Given the description of an element on the screen output the (x, y) to click on. 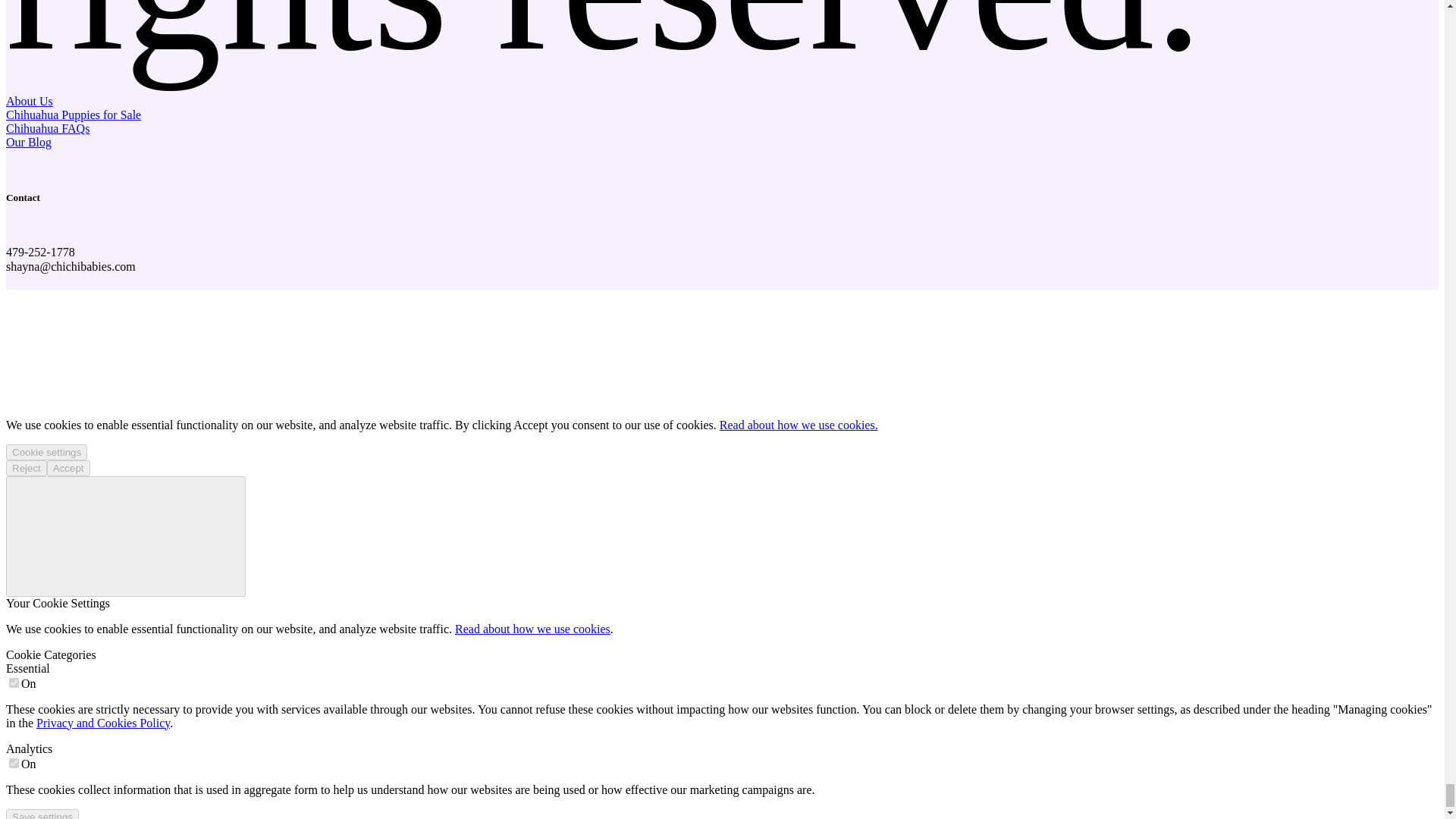
on (13, 763)
About Us (28, 101)
Chihuahua Puppies for Sale (73, 114)
on (13, 682)
